Given the description of an element on the screen output the (x, y) to click on. 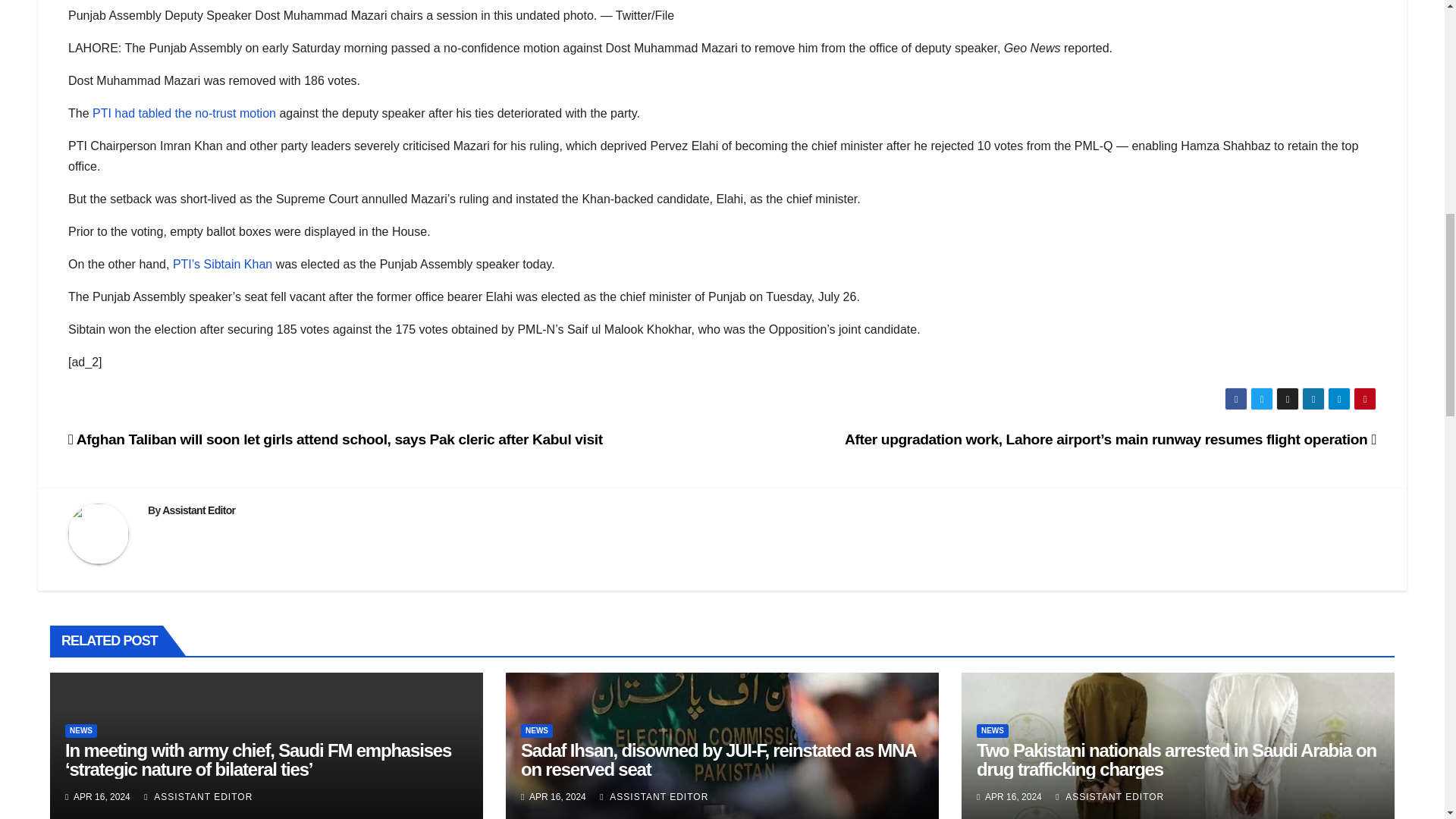
ASSISTANT EDITOR (197, 796)
NEWS (537, 730)
NEWS (992, 730)
NEWS (81, 730)
ASSISTANT EDITOR (653, 796)
Assistant Editor (197, 510)
PTI had tabled the no-trust motion (184, 113)
ASSISTANT EDITOR (1109, 796)
